Given the description of an element on the screen output the (x, y) to click on. 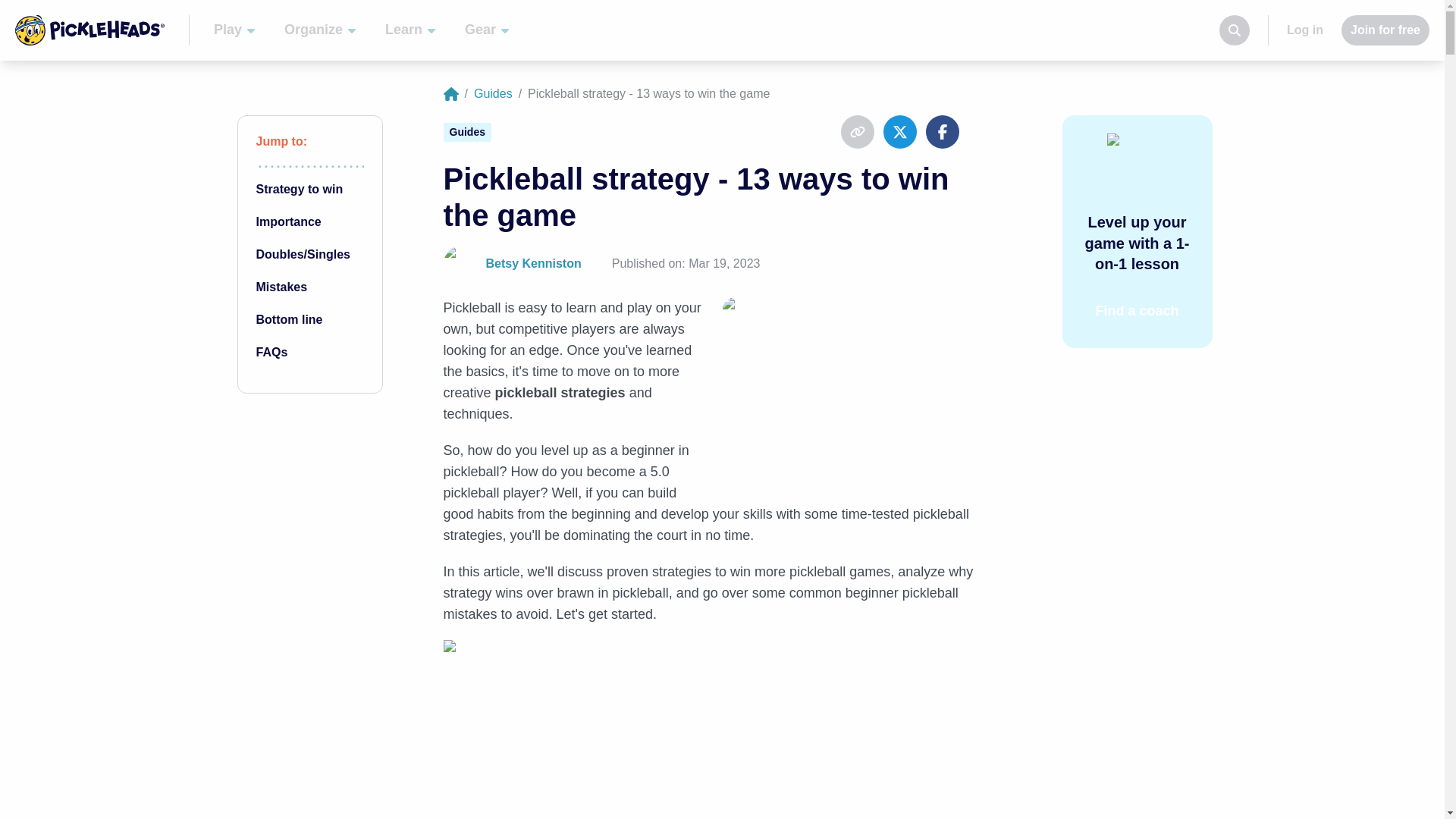
Betsy Kenniston (460, 263)
FAQs (1384, 30)
Organize (272, 351)
Guides (320, 30)
Learn (493, 94)
Importance (410, 30)
Find a coach (288, 221)
Mistakes (1137, 310)
Strategy to win (281, 286)
